Given the description of an element on the screen output the (x, y) to click on. 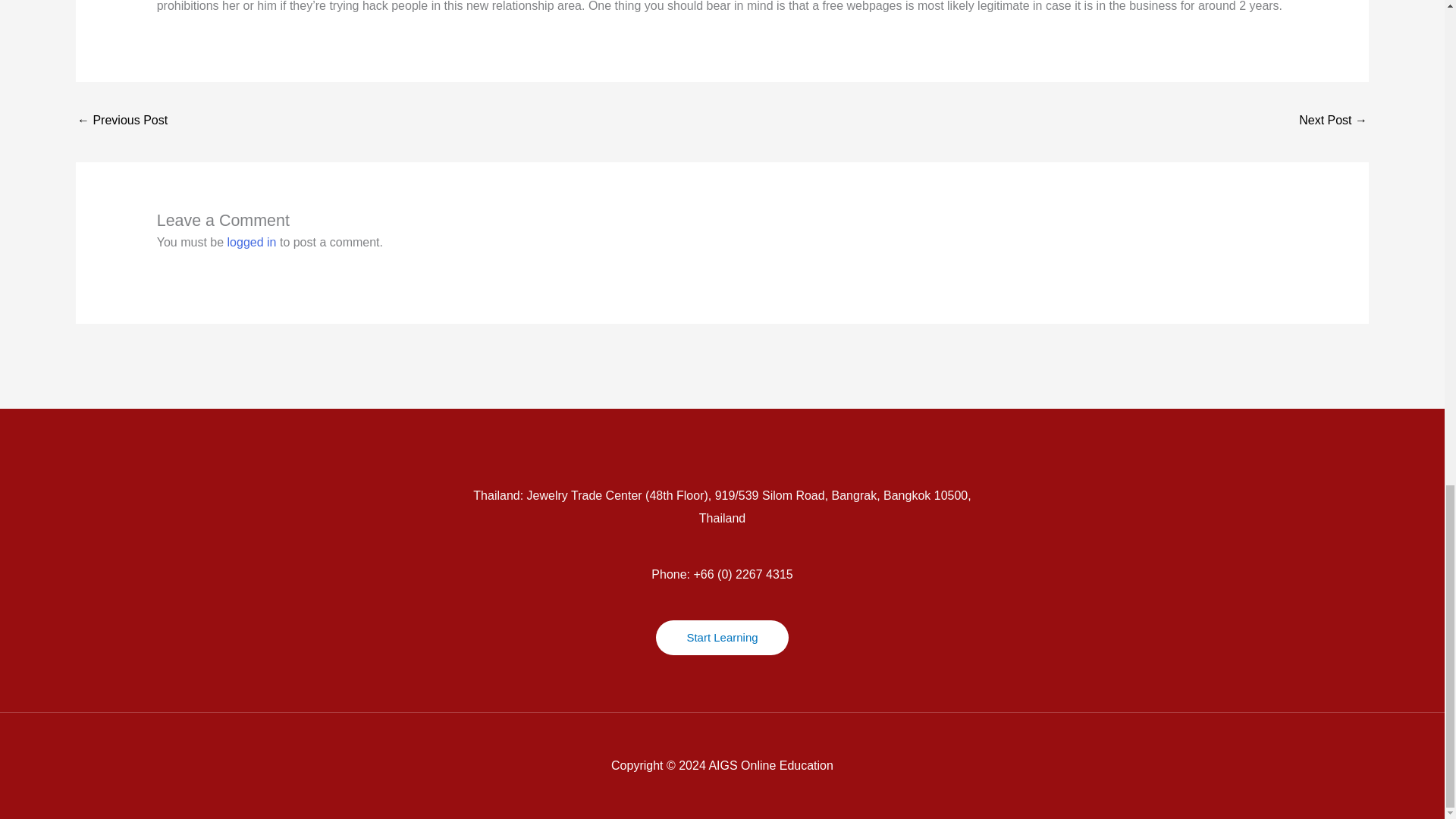
Seven Shocks on the a date Which have a good Thai (1332, 121)
logged in (251, 241)
Start Learning (721, 637)
